Given the description of an element on the screen output the (x, y) to click on. 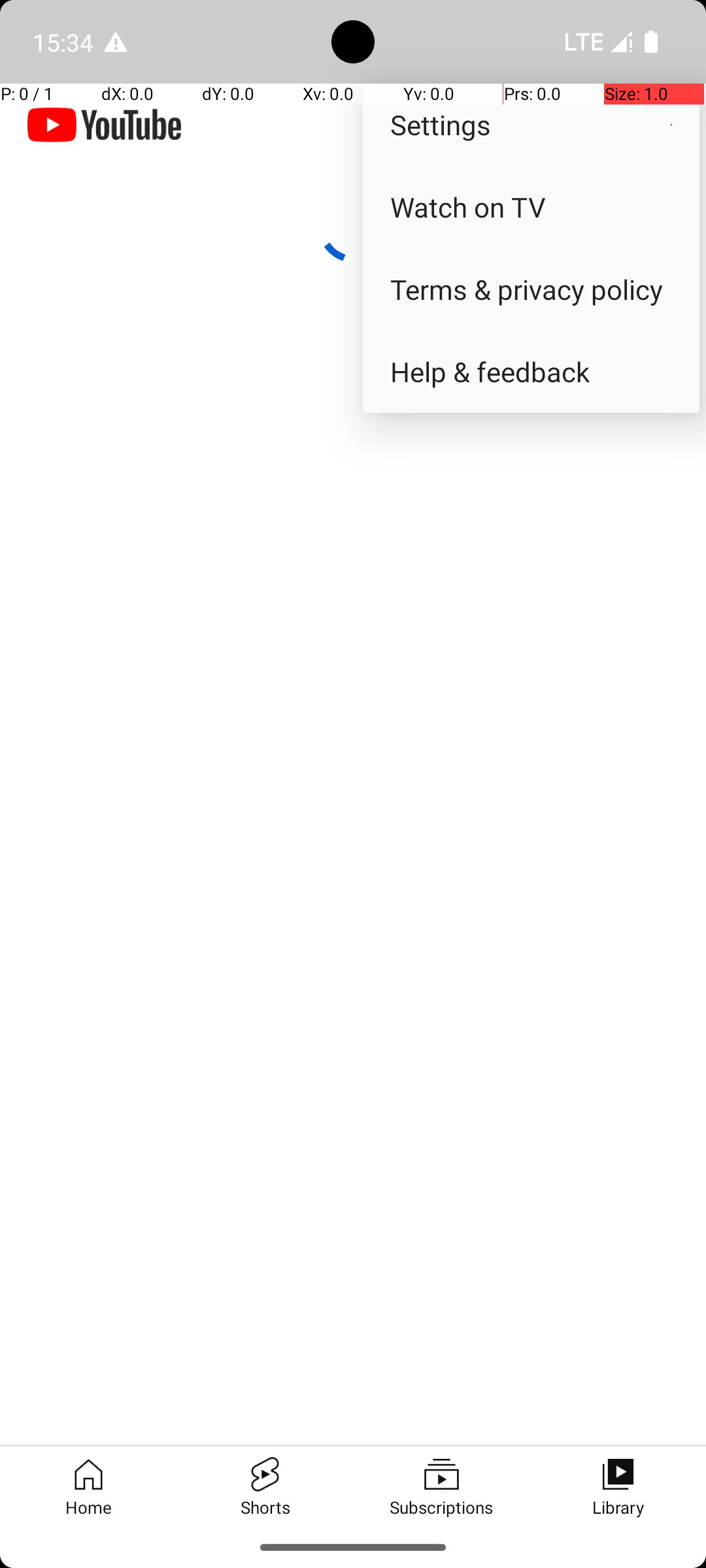
Watch on TV Element type: android.widget.TextView (531, 206)
Terms & privacy policy Element type: android.widget.TextView (531, 288)
